Given the description of an element on the screen output the (x, y) to click on. 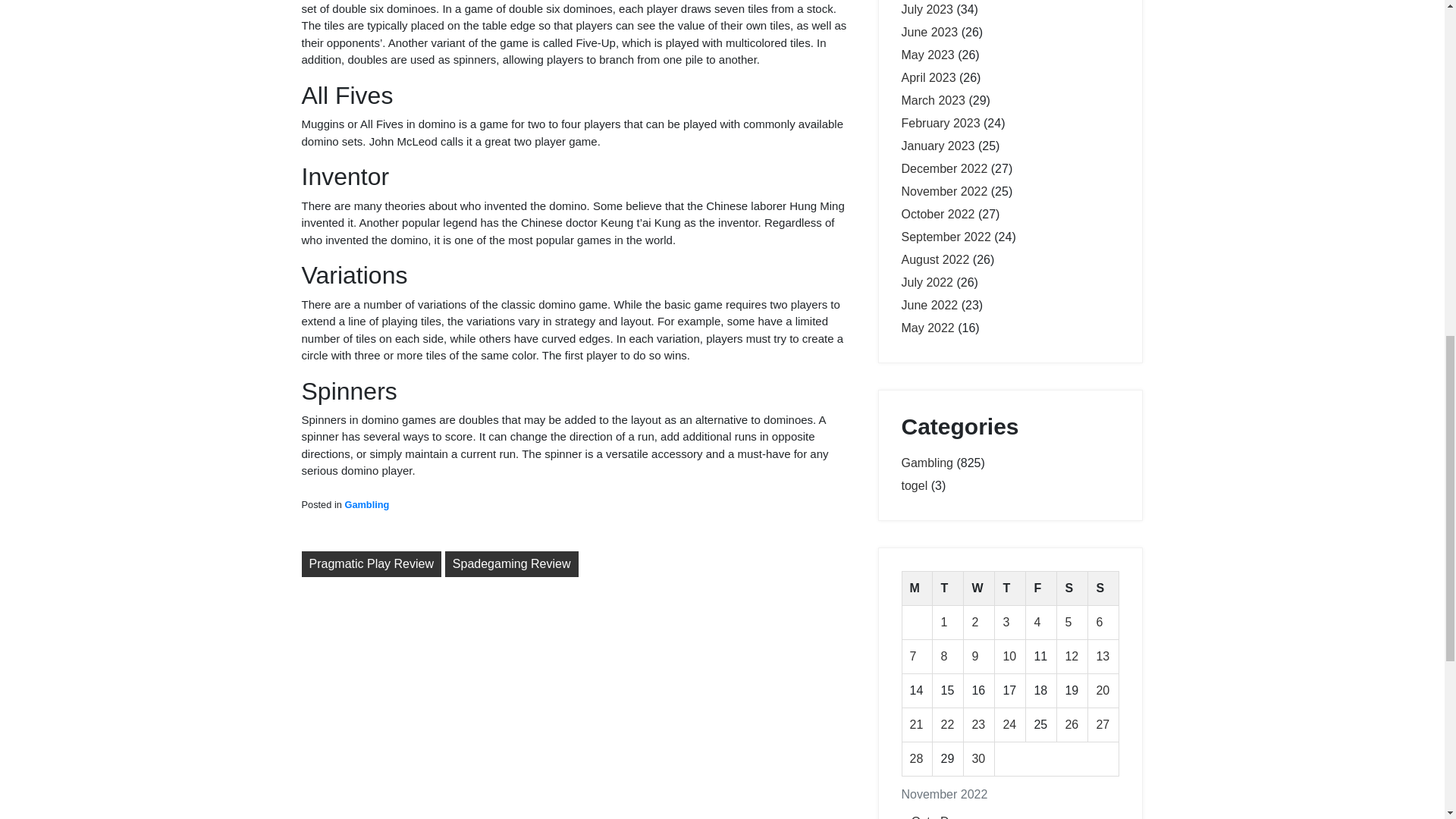
May 2022 (927, 327)
Monday (917, 588)
Spadegaming Review (511, 564)
Friday (1041, 588)
December 2022 (944, 168)
November 2022 (944, 191)
Sunday (1103, 588)
Pragmatic Play Review (371, 564)
February 2023 (940, 123)
June 2022 (929, 305)
